Given the description of an element on the screen output the (x, y) to click on. 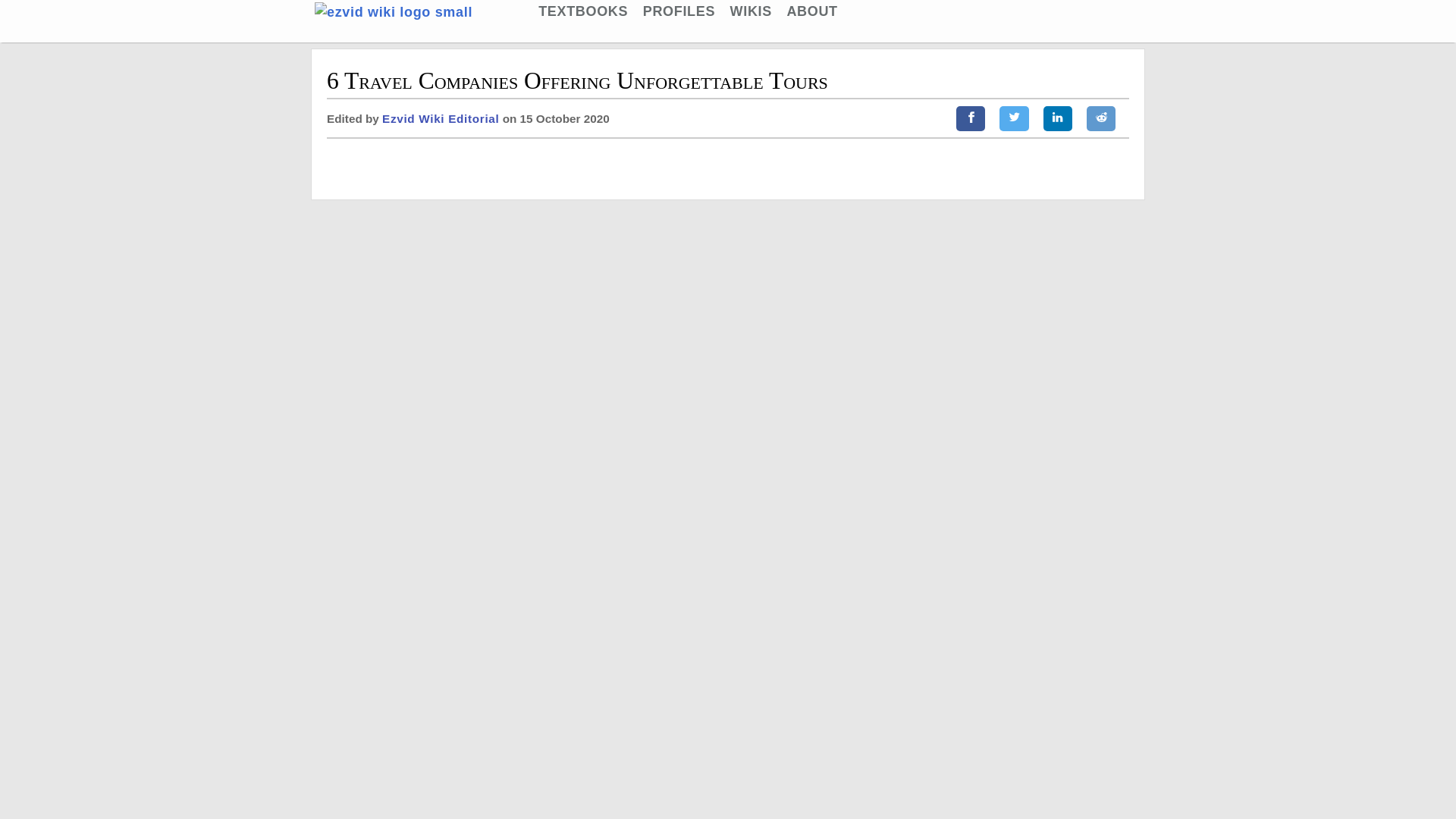
Ezvid Wiki Editorial (440, 118)
TEXTBOOKS (582, 10)
PROFILES (678, 10)
WIKIS (750, 10)
ABOUT (811, 10)
